Given the description of an element on the screen output the (x, y) to click on. 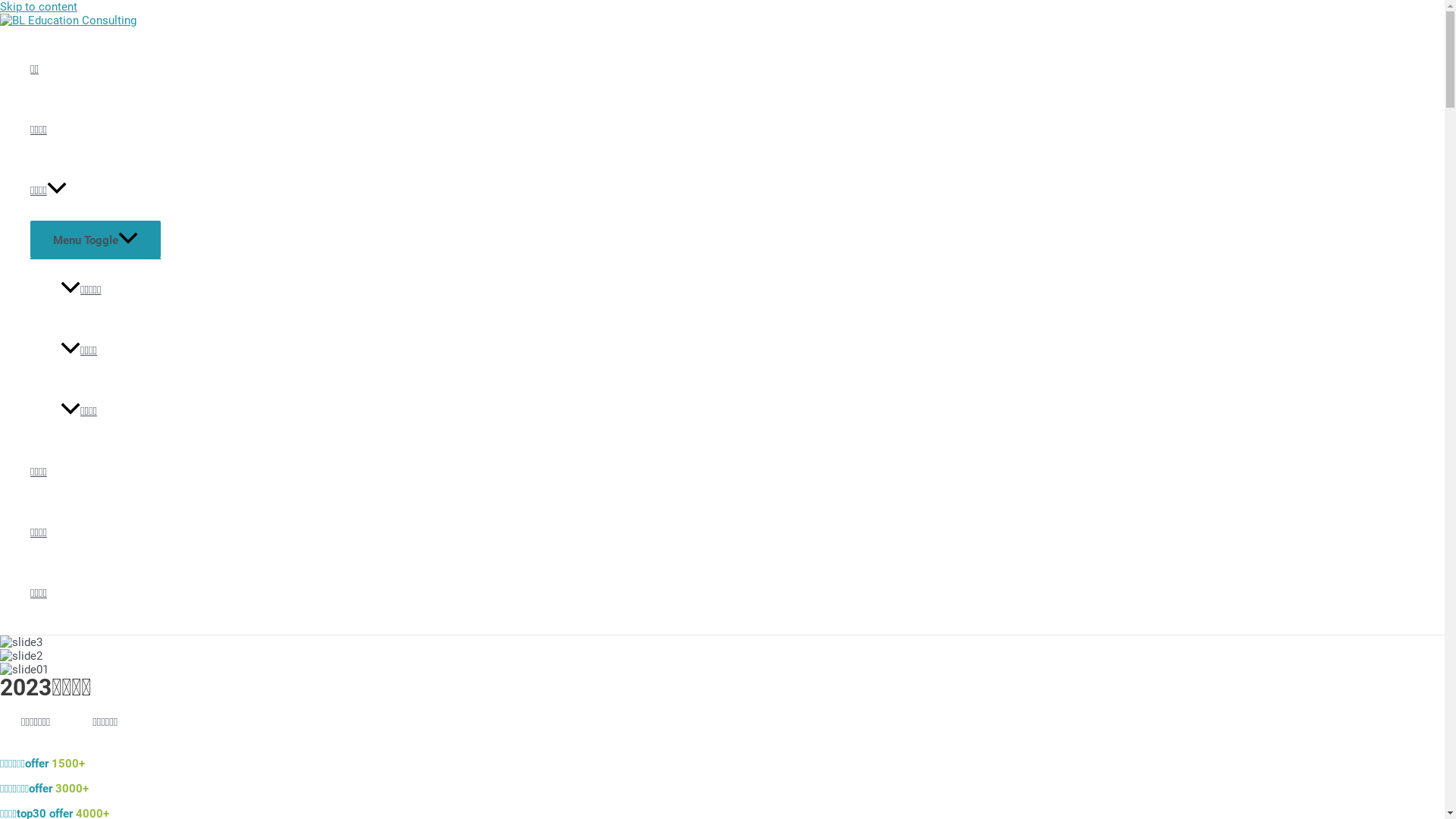
Skip to content Element type: text (38, 6)
Menu Toggle Element type: text (95, 238)
